Given the description of an element on the screen output the (x, y) to click on. 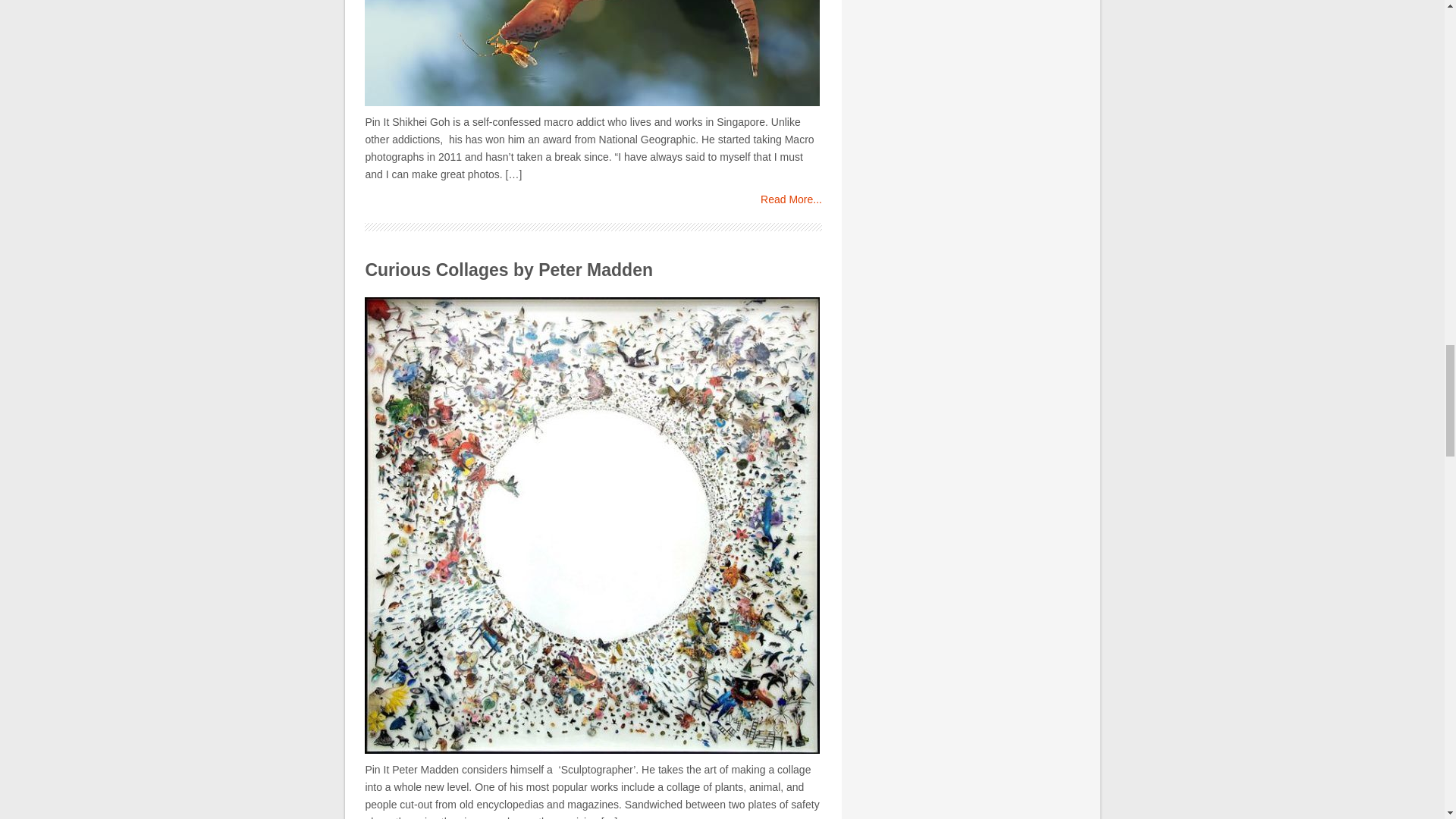
Read More... (791, 199)
Curious Collages by Peter Madden (508, 270)
Wacky Critter Close-Ups by Shikhei Goh (593, 56)
Wacky Critter Close-Ups by Shikhei Goh (791, 199)
